Given the description of an element on the screen output the (x, y) to click on. 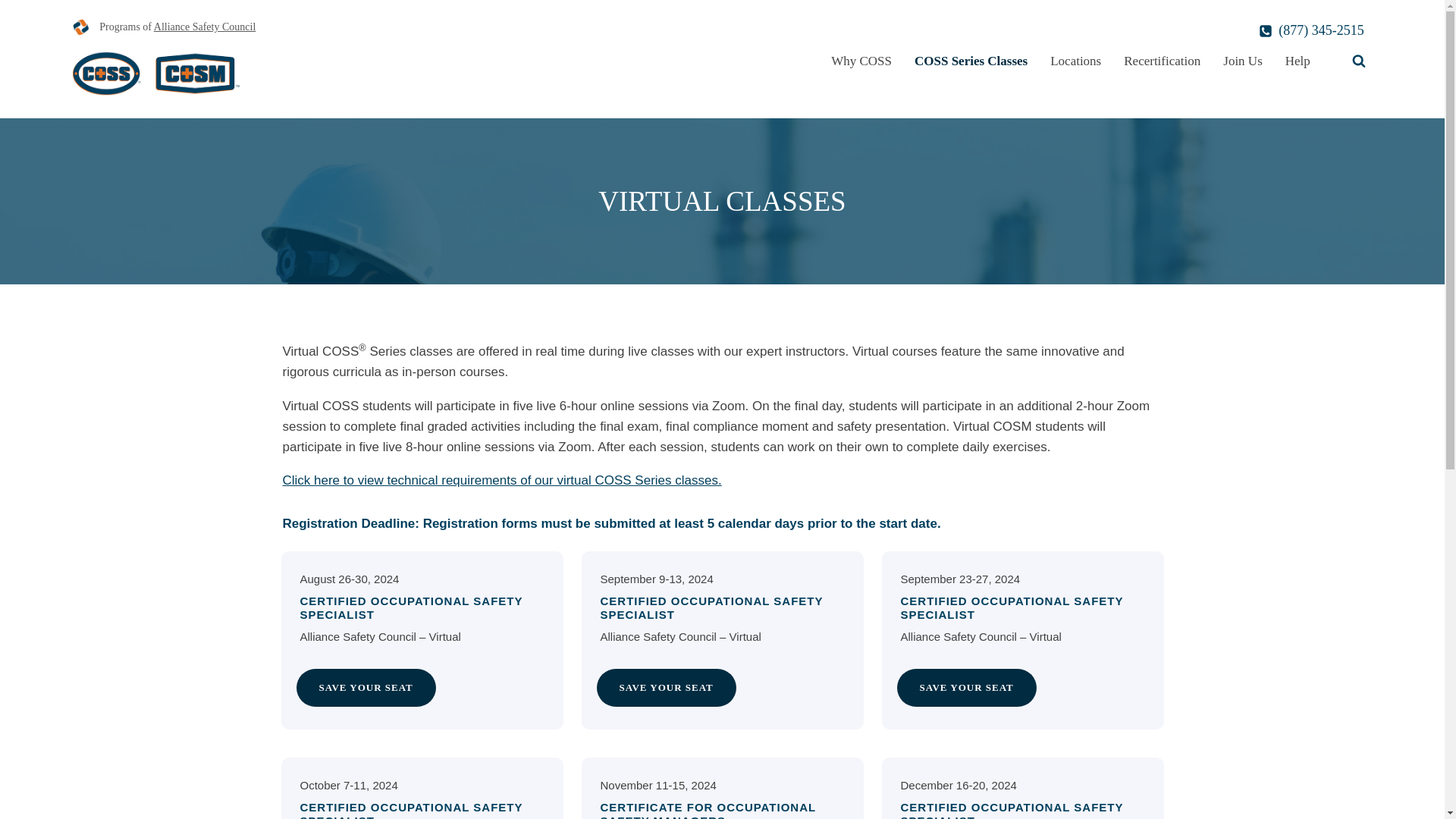
Help (1298, 60)
Join Us (1241, 60)
COSS Series Classes (970, 60)
SAVE YOUR SEAT (665, 688)
Locations (1075, 60)
Recertification (1161, 60)
SAVE YOUR SEAT (965, 688)
Programs of Alliance Safety Council (164, 32)
Why COSS (860, 60)
